Given the description of an element on the screen output the (x, y) to click on. 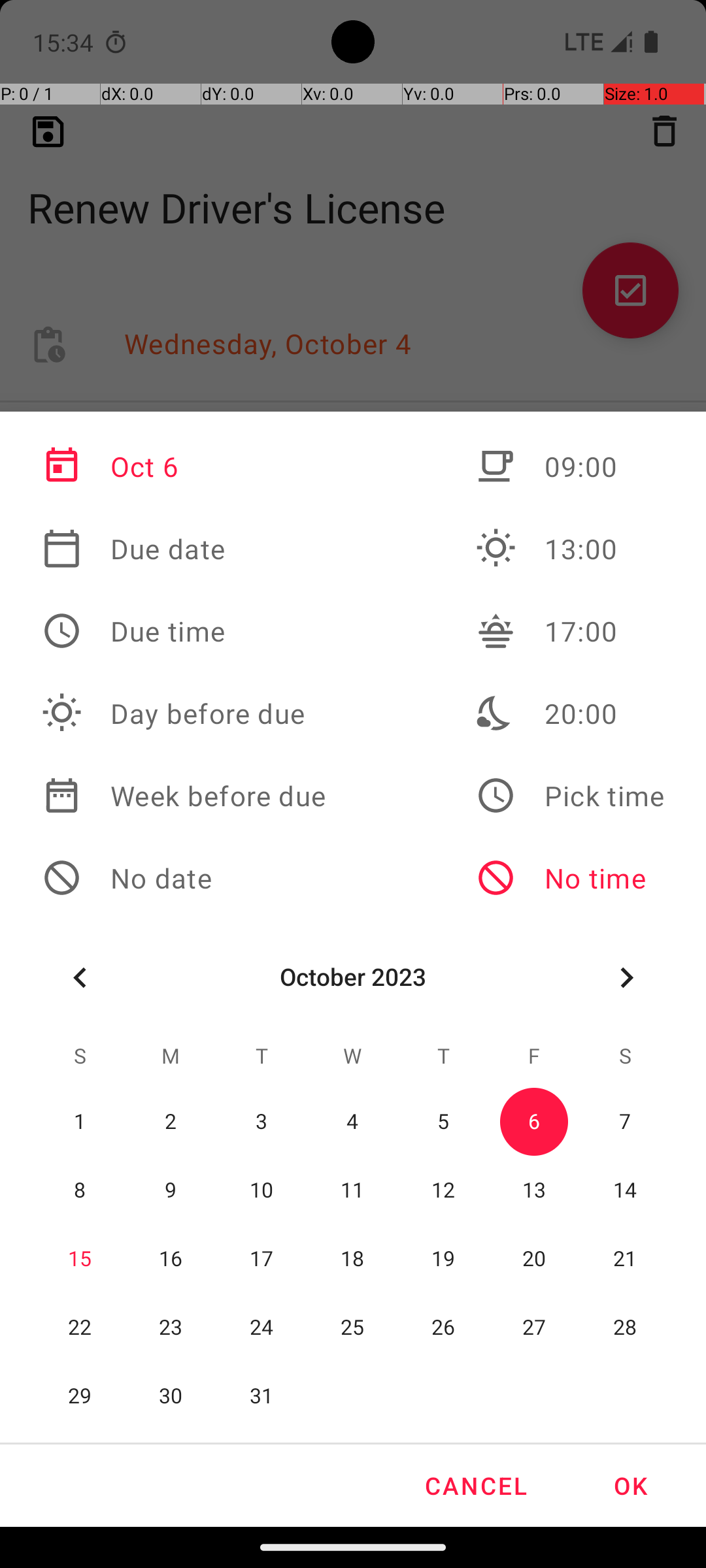
Oct 6 Element type: android.widget.CompoundButton (183, 466)
Due date Element type: android.widget.CompoundButton (183, 548)
Due time Element type: android.widget.CompoundButton (183, 630)
Day before due Element type: android.widget.CompoundButton (183, 713)
Week before due Element type: android.widget.CompoundButton (183, 795)
